Given the description of an element on the screen output the (x, y) to click on. 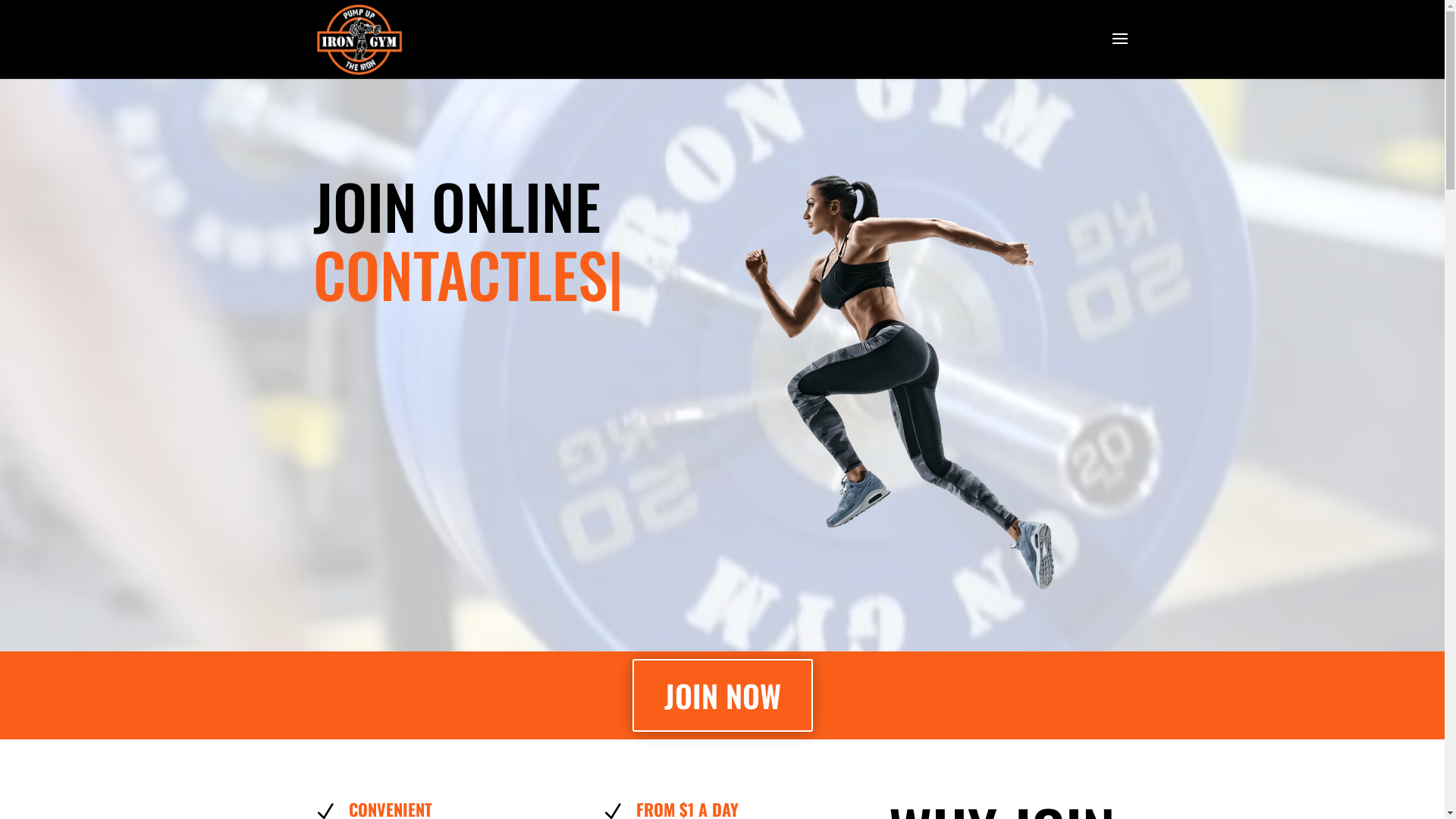
JOIN NOW Element type: text (722, 694)
